Given the description of an element on the screen output the (x, y) to click on. 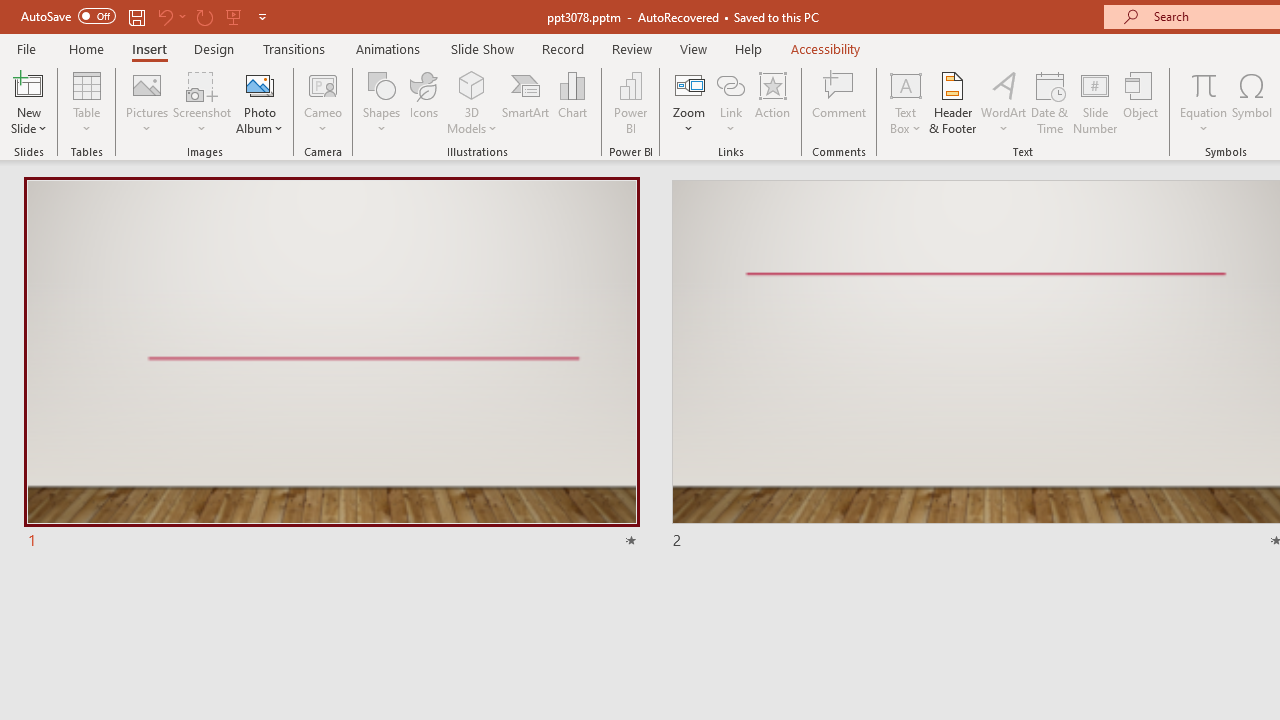
Slide Number (1095, 102)
Link (731, 84)
Date & Time... (1050, 102)
Table (86, 102)
WordArt (1004, 102)
Link (731, 102)
